Given the description of an element on the screen output the (x, y) to click on. 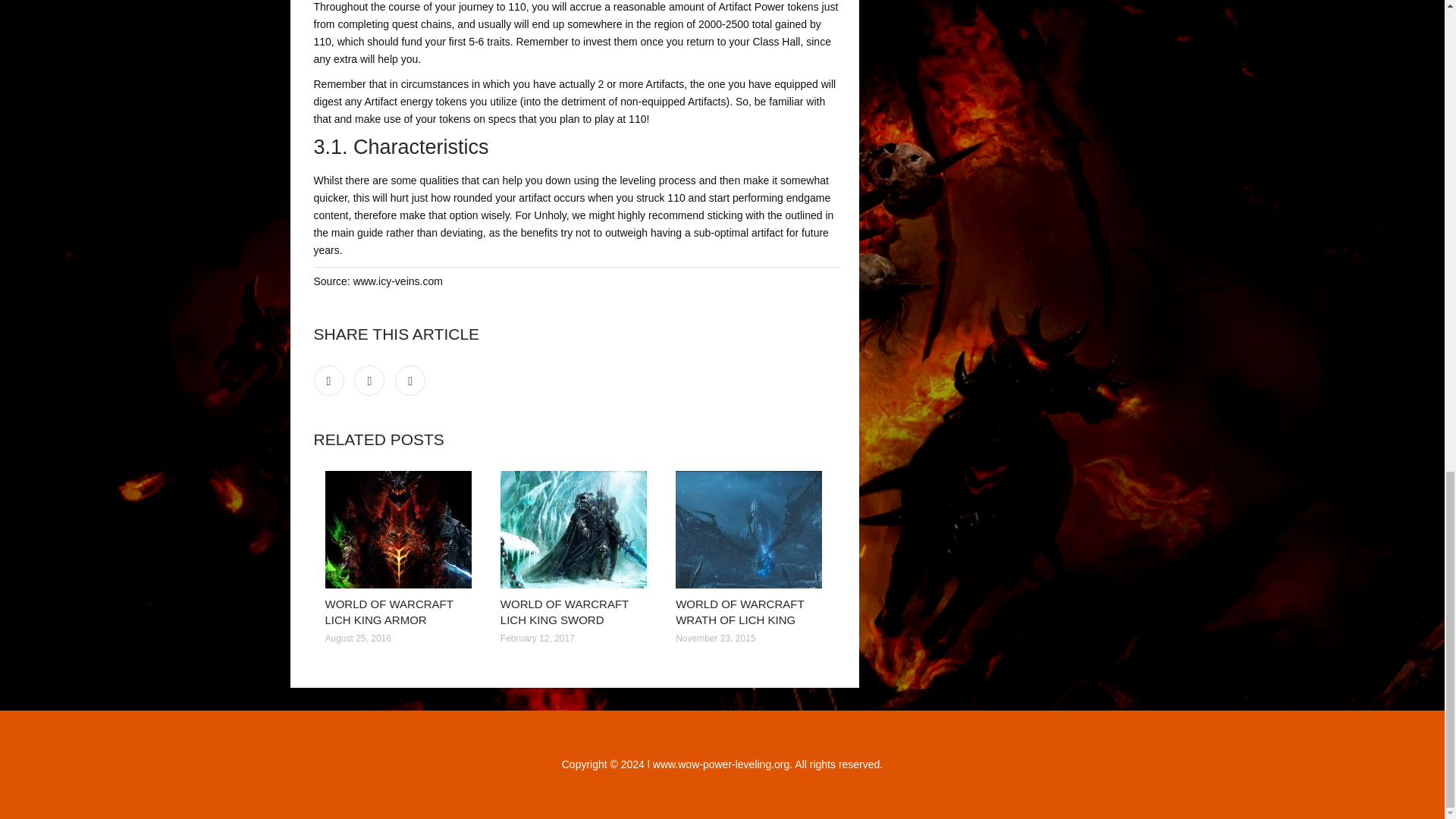
World of Warcraft Wrath of Lich King (751, 529)
WORLD OF WARCRAFT LICH KING ARMOR (388, 611)
World of Warcraft Lich King Armor (400, 529)
WORLD OF WARCRAFT LICH KING SWORD (564, 611)
World of Warcraft Lich King Sword (576, 529)
WORLD OF WARCRAFT WRATH OF LICH KING (739, 611)
